Given the description of an element on the screen output the (x, y) to click on. 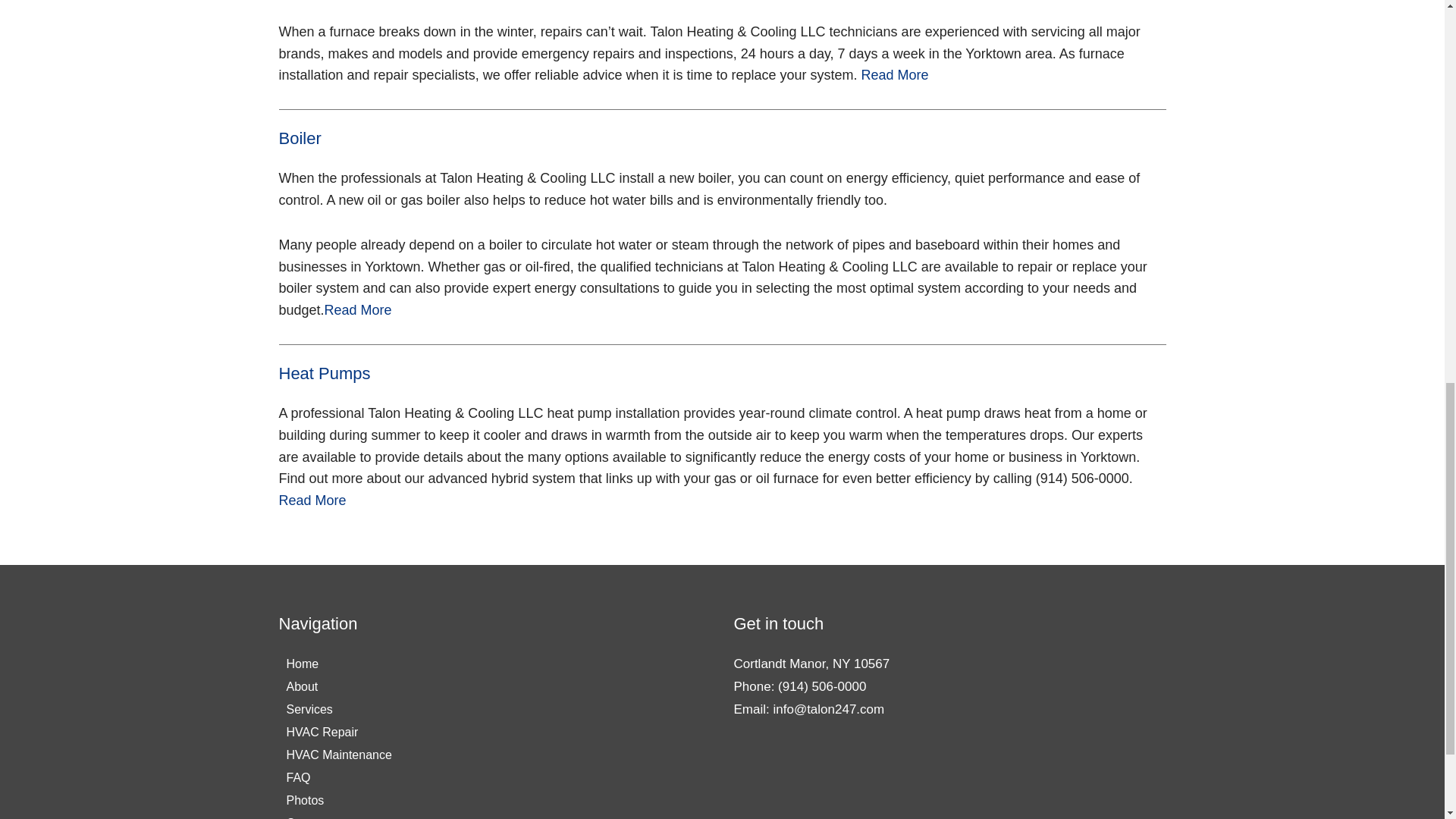
About (338, 686)
Read More (357, 309)
Services (338, 709)
HVAC Maintenance (338, 754)
Photos (338, 800)
FAQ (338, 777)
Home (338, 663)
Read More (312, 500)
Contact (338, 815)
HVAC Repair (338, 732)
Read More (894, 74)
